Given the description of an element on the screen output the (x, y) to click on. 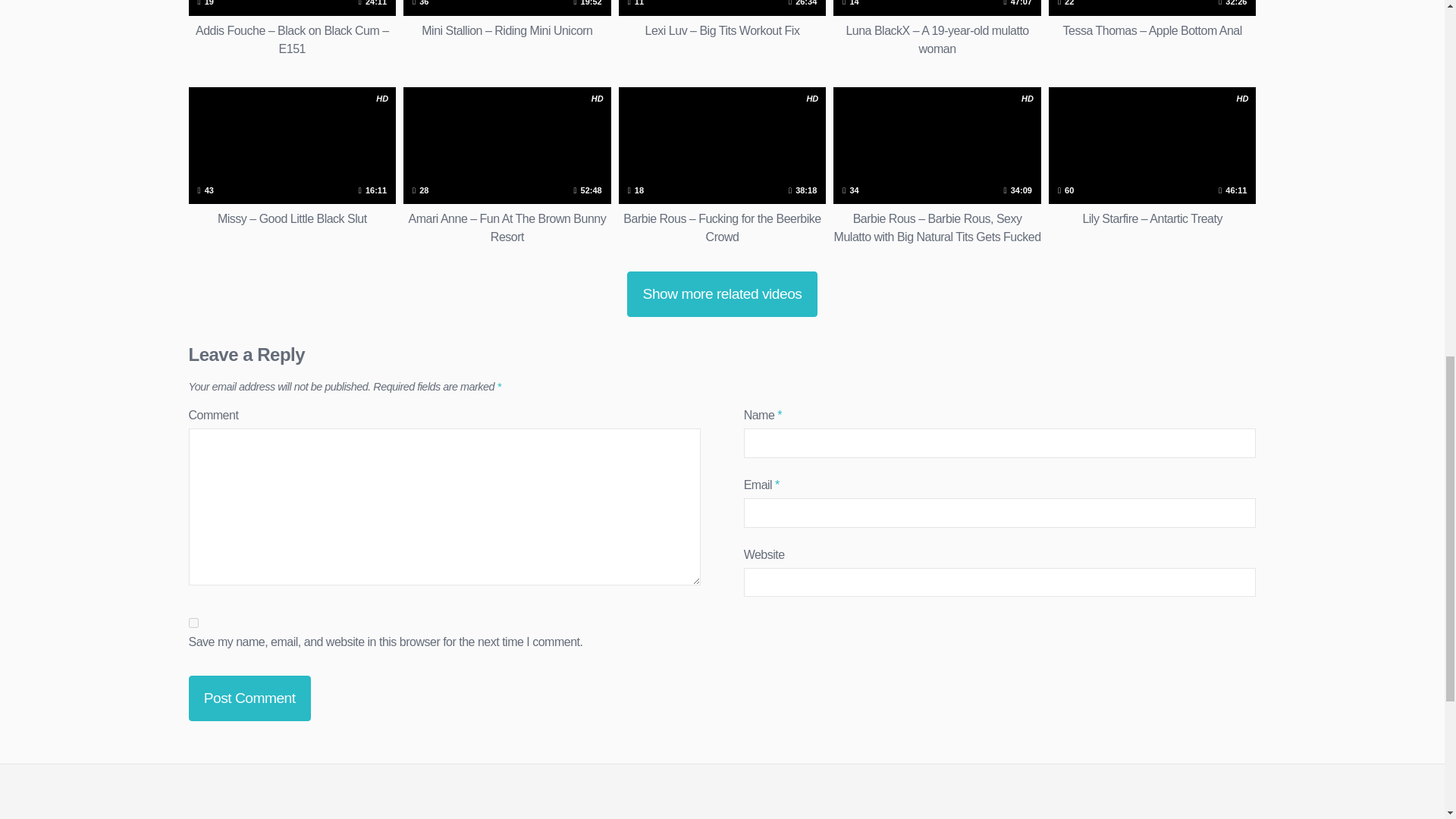
Show more related videos (721, 293)
Post Comment (248, 698)
yes (192, 623)
Post Comment (248, 698)
